Given the description of an element on the screen output the (x, y) to click on. 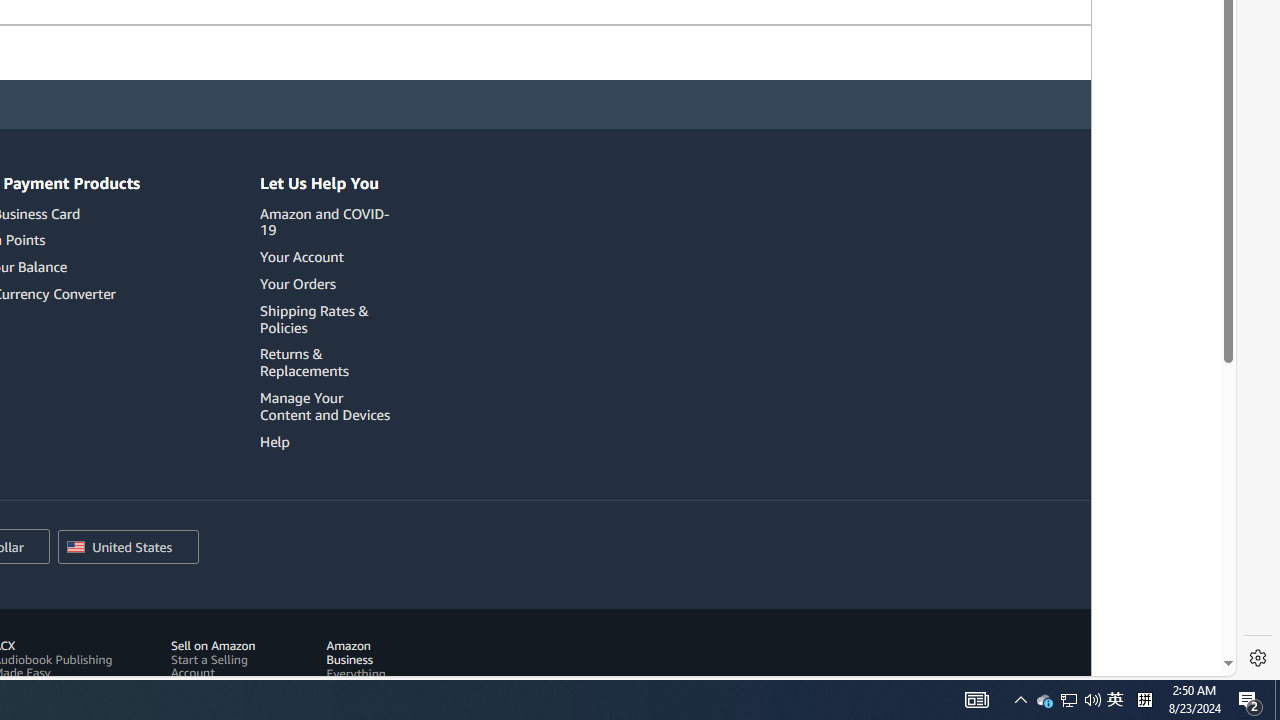
Manage Your Content and Devices (328, 406)
Shipping Rates & Policies (328, 318)
Your Account (328, 257)
Your Orders (328, 284)
Manage Your Content and Devices (324, 406)
Your Account (301, 257)
Sell on Amazon Start a Selling Account (224, 659)
Returns & Replacements (328, 363)
Shipping Rates & Policies (313, 318)
Choose a country/region for shopping. (127, 547)
Amazon and COVID-19 (328, 222)
Amazon and COVID-19 (324, 221)
Your Orders (297, 283)
Returns & Replacements (304, 362)
Help (274, 441)
